Given the description of an element on the screen output the (x, y) to click on. 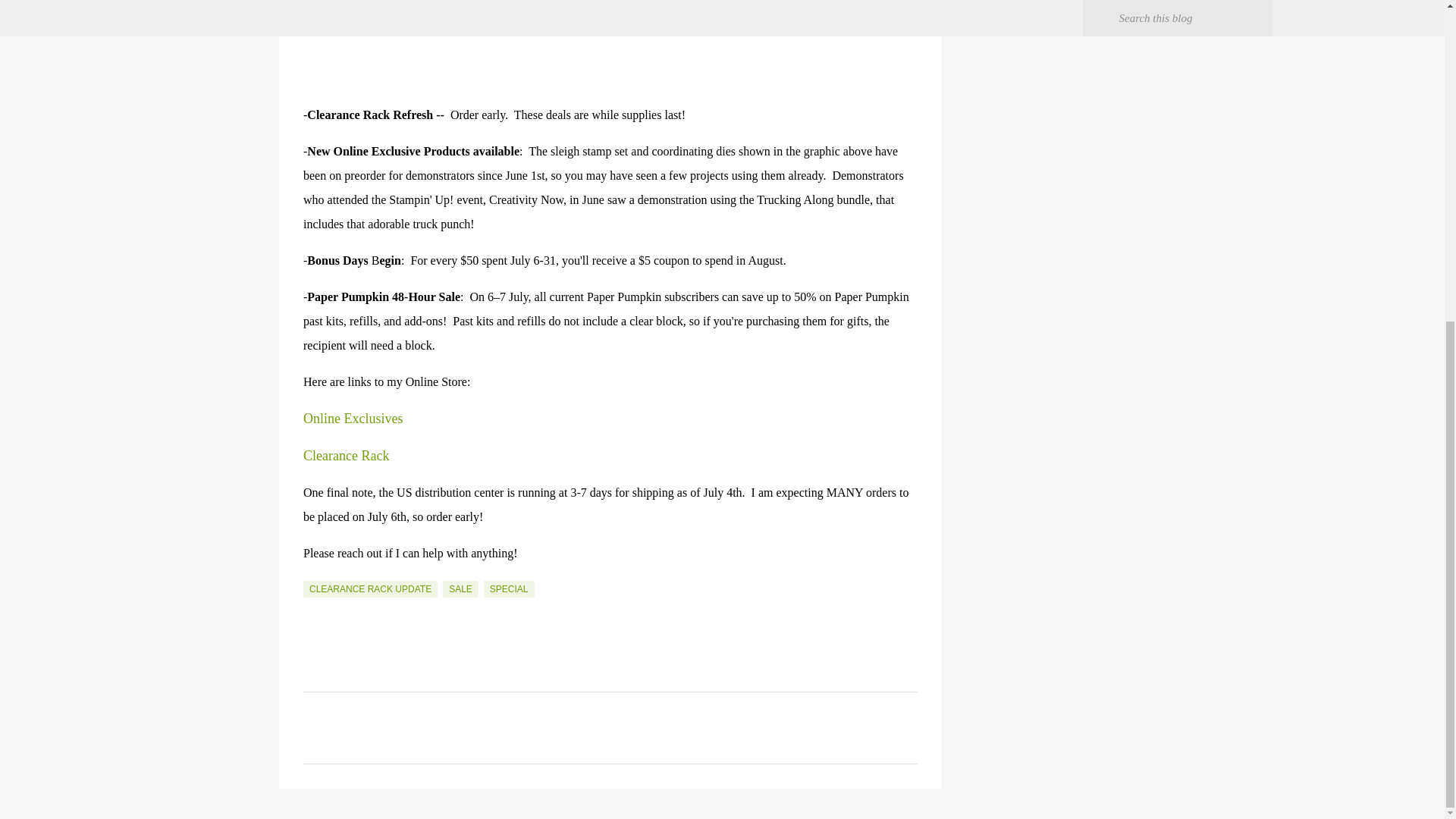
SPECIAL (508, 588)
Online Exclusives (352, 418)
CLEARANCE RACK UPDATE (370, 588)
Clearance Rack (345, 455)
SALE (460, 588)
